Given the description of an element on the screen output the (x, y) to click on. 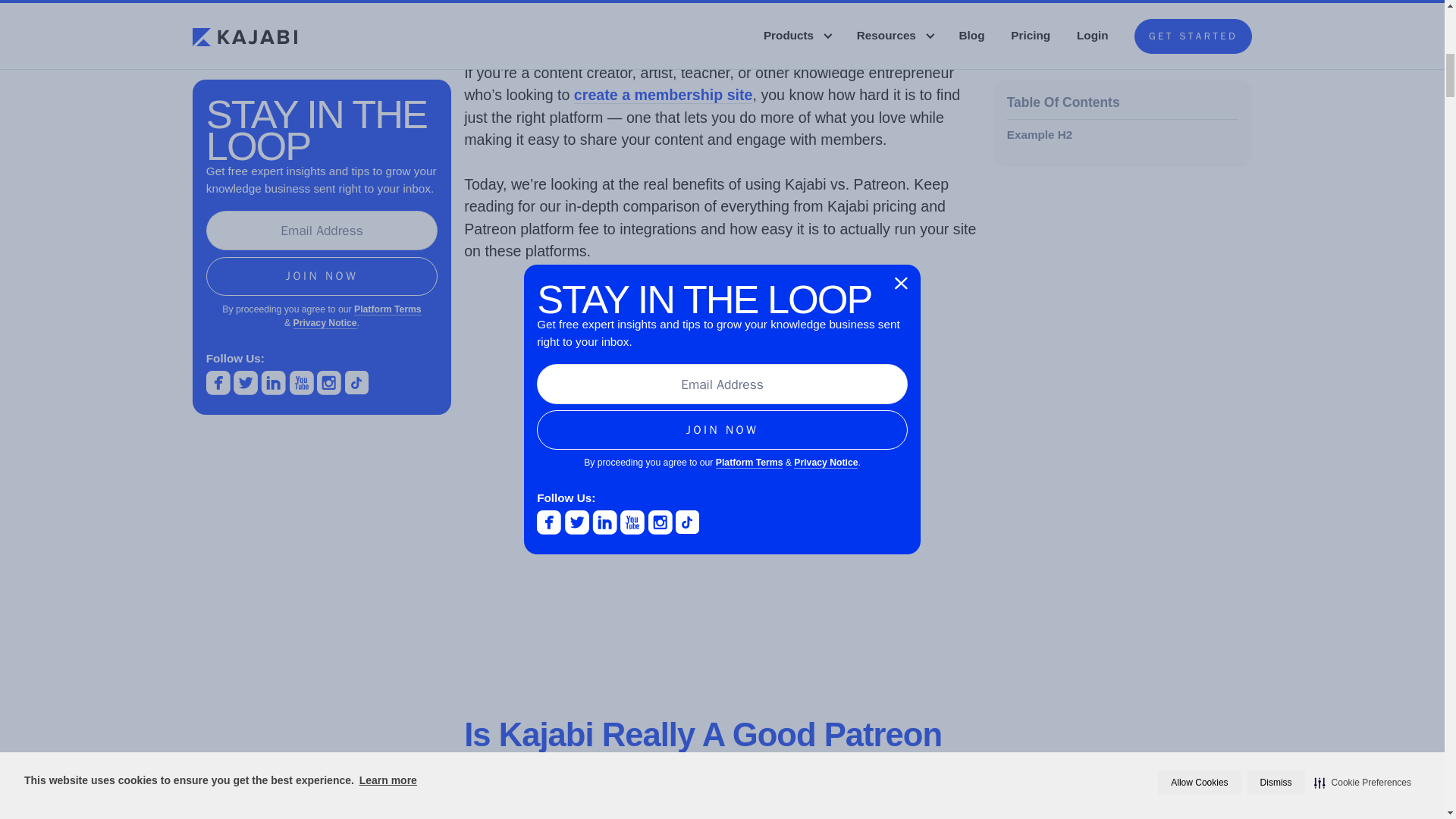
Join Now (322, 258)
